Given the description of an element on the screen output the (x, y) to click on. 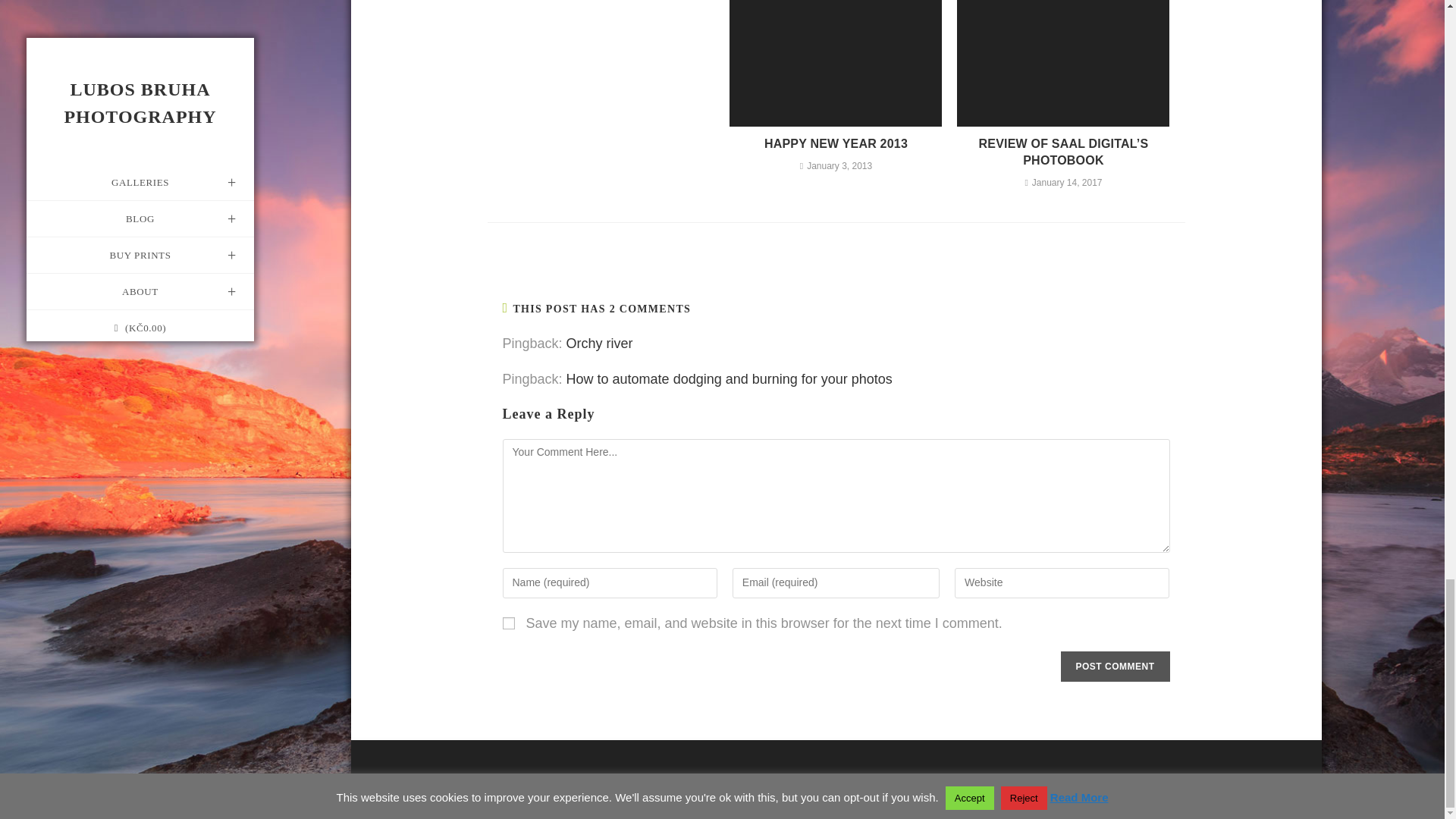
yes (507, 623)
Post Comment (1114, 666)
